Given the description of an element on the screen output the (x, y) to click on. 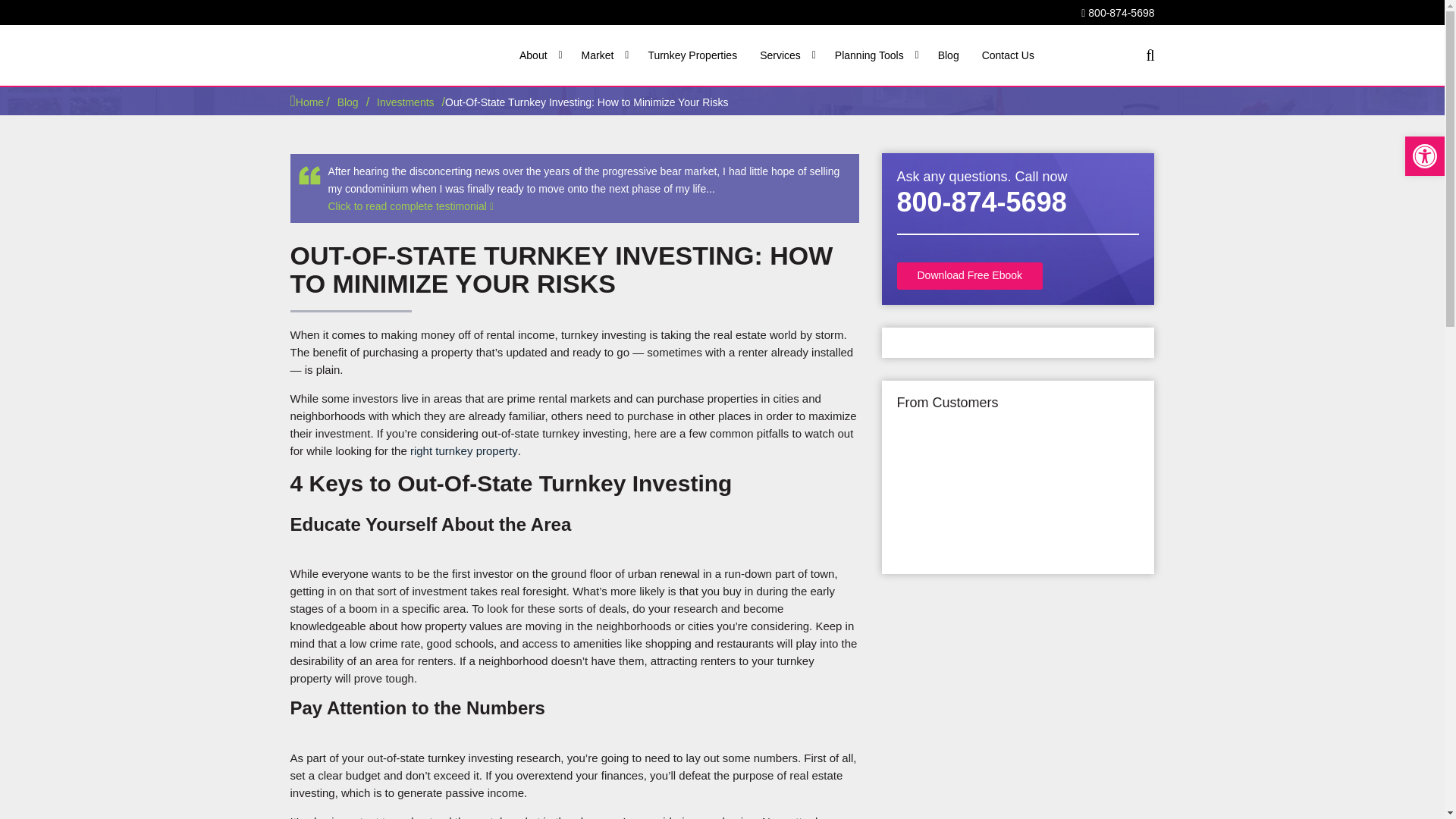
800-874-5698 (980, 201)
Turnkey Properties (690, 55)
Investments (405, 102)
Home (306, 102)
Download Free Ebook (969, 275)
Services (783, 55)
Planning Tools (872, 55)
800-874-5698 (1117, 12)
Click to read complete testimonial (410, 206)
Market (600, 55)
